Given the description of an element on the screen output the (x, y) to click on. 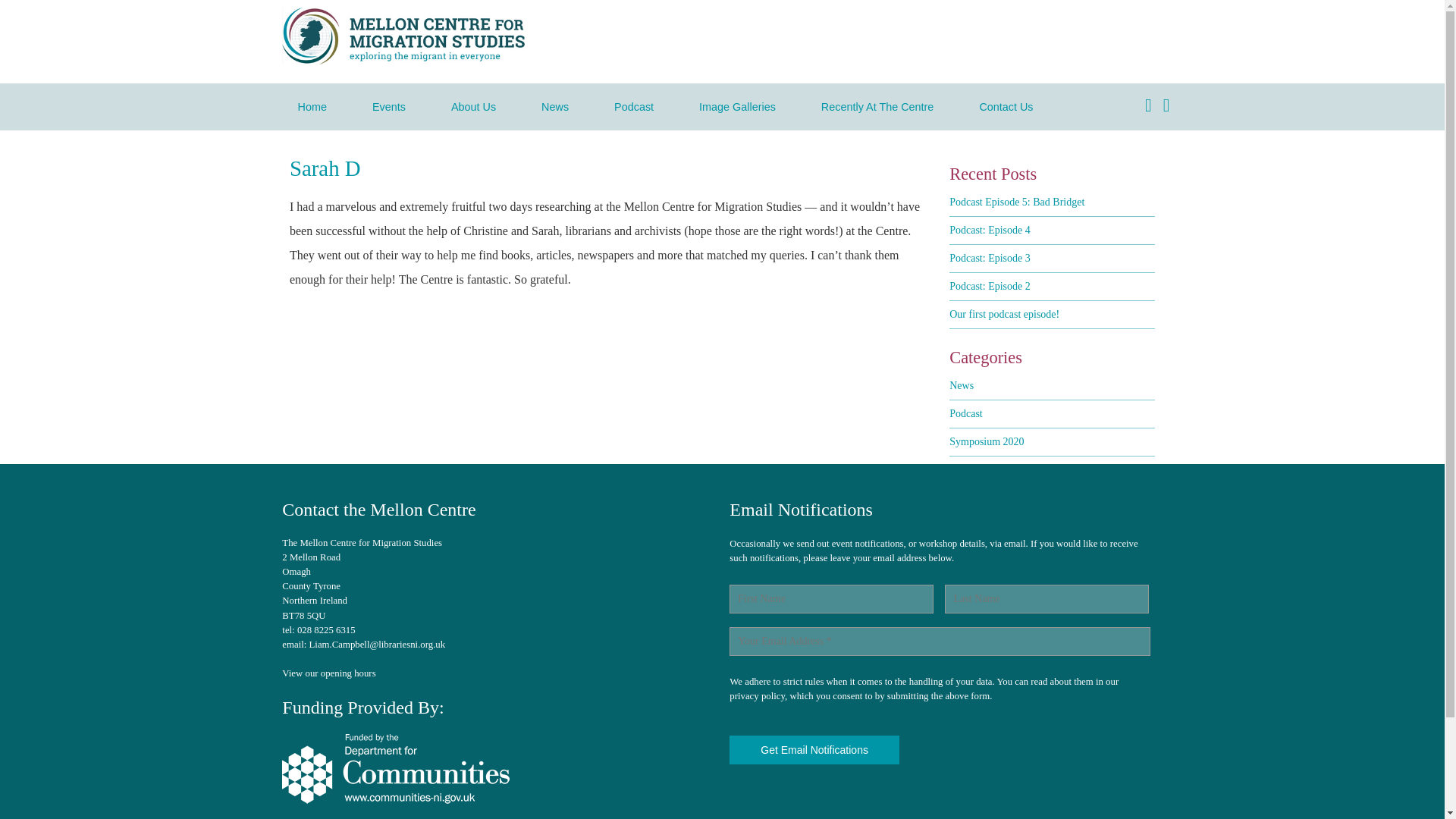
Mellon Centre for Migration Studies (403, 60)
Podcast (965, 413)
News (554, 106)
Contact Us (1005, 106)
Events (388, 106)
opening hours (347, 673)
Podcast: Episode 4 (989, 229)
Mellon Centre for Migration Studies, Opening Hours (347, 673)
Podcast (633, 106)
Get Email Notifications (814, 749)
